Given the description of an element on the screen output the (x, y) to click on. 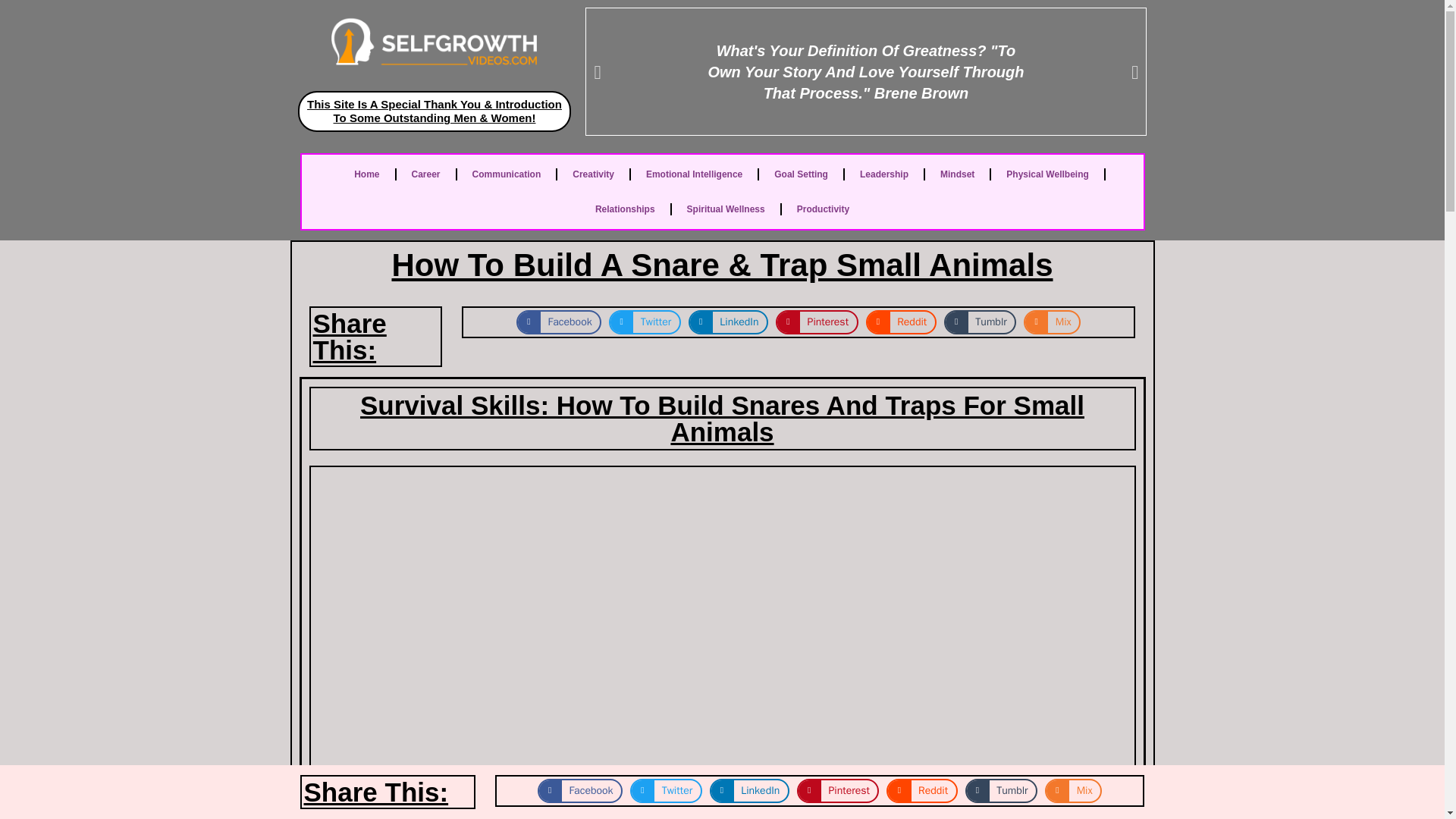
Leadership Development (883, 174)
Self-Growth-videos (433, 41)
Mindset (957, 174)
Physical Wellbeing (1047, 174)
Relationships (624, 208)
Relationships and Social Skill (624, 208)
Home (366, 174)
Creativity (592, 174)
Spiritual Wellness (725, 208)
Goal Setting (800, 174)
